Given the description of an element on the screen output the (x, y) to click on. 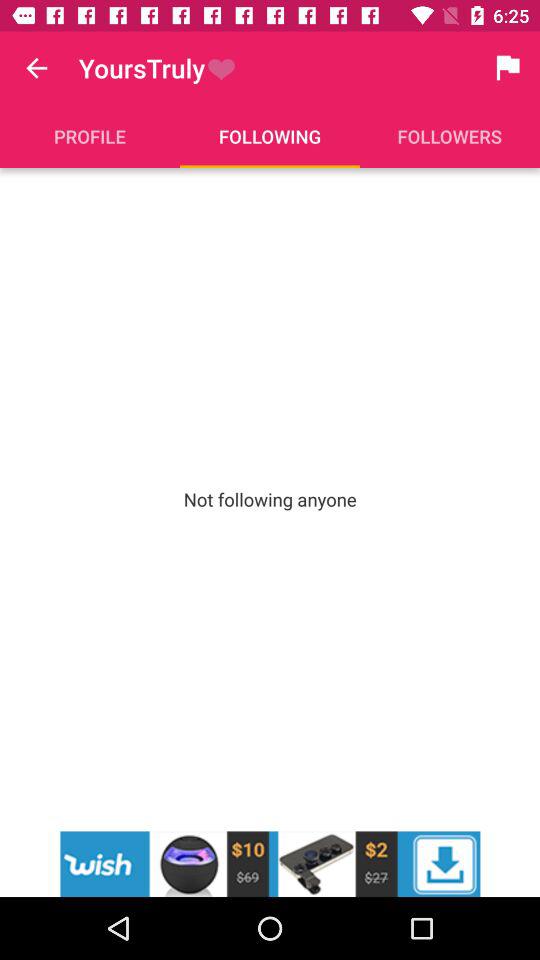
go to advertisement (270, 864)
